Given the description of an element on the screen output the (x, y) to click on. 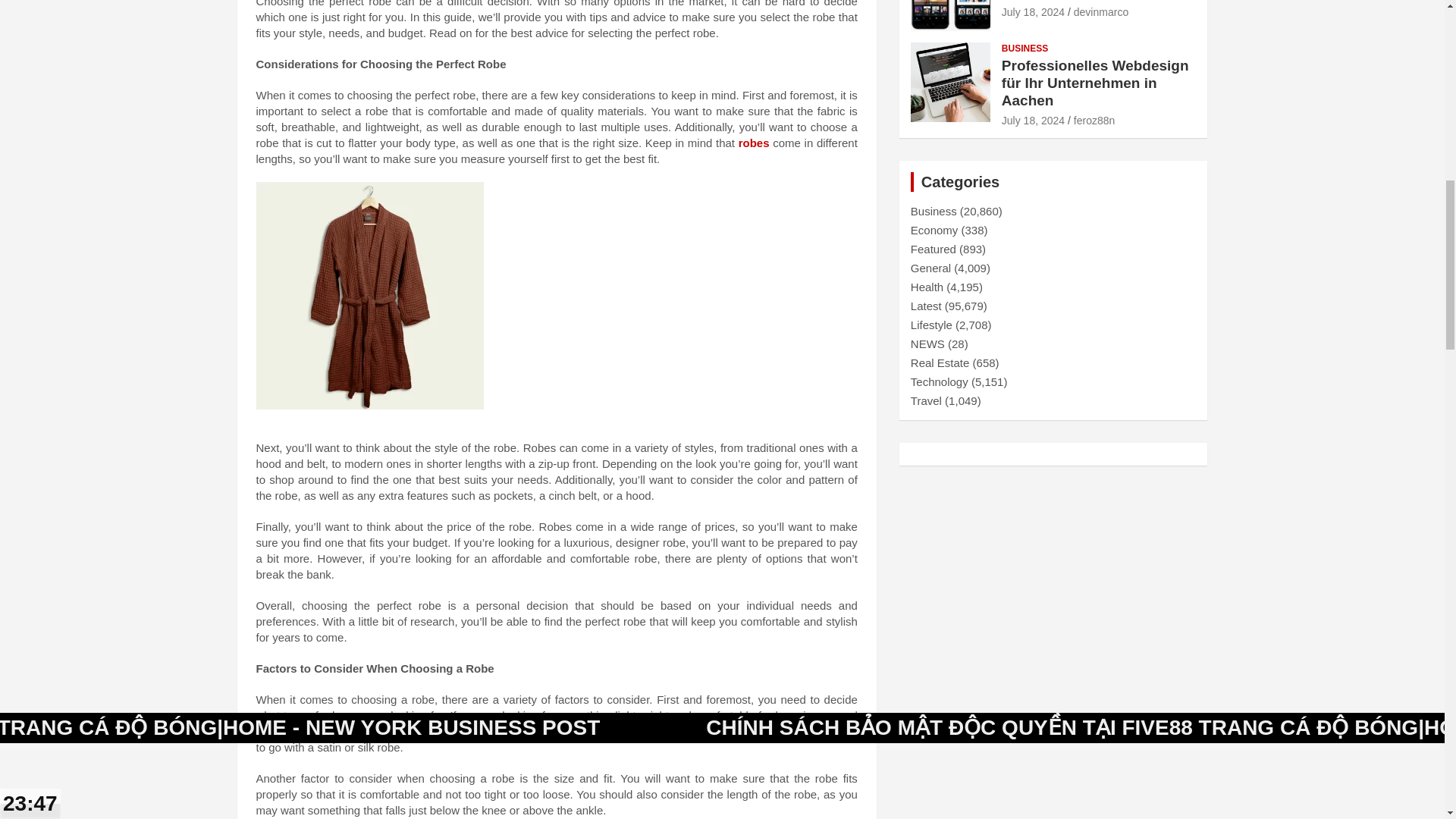
robes (754, 142)
Top 9 Hidden Gems of the Photoshop Mobile App (1032, 11)
